Given the description of an element on the screen output the (x, y) to click on. 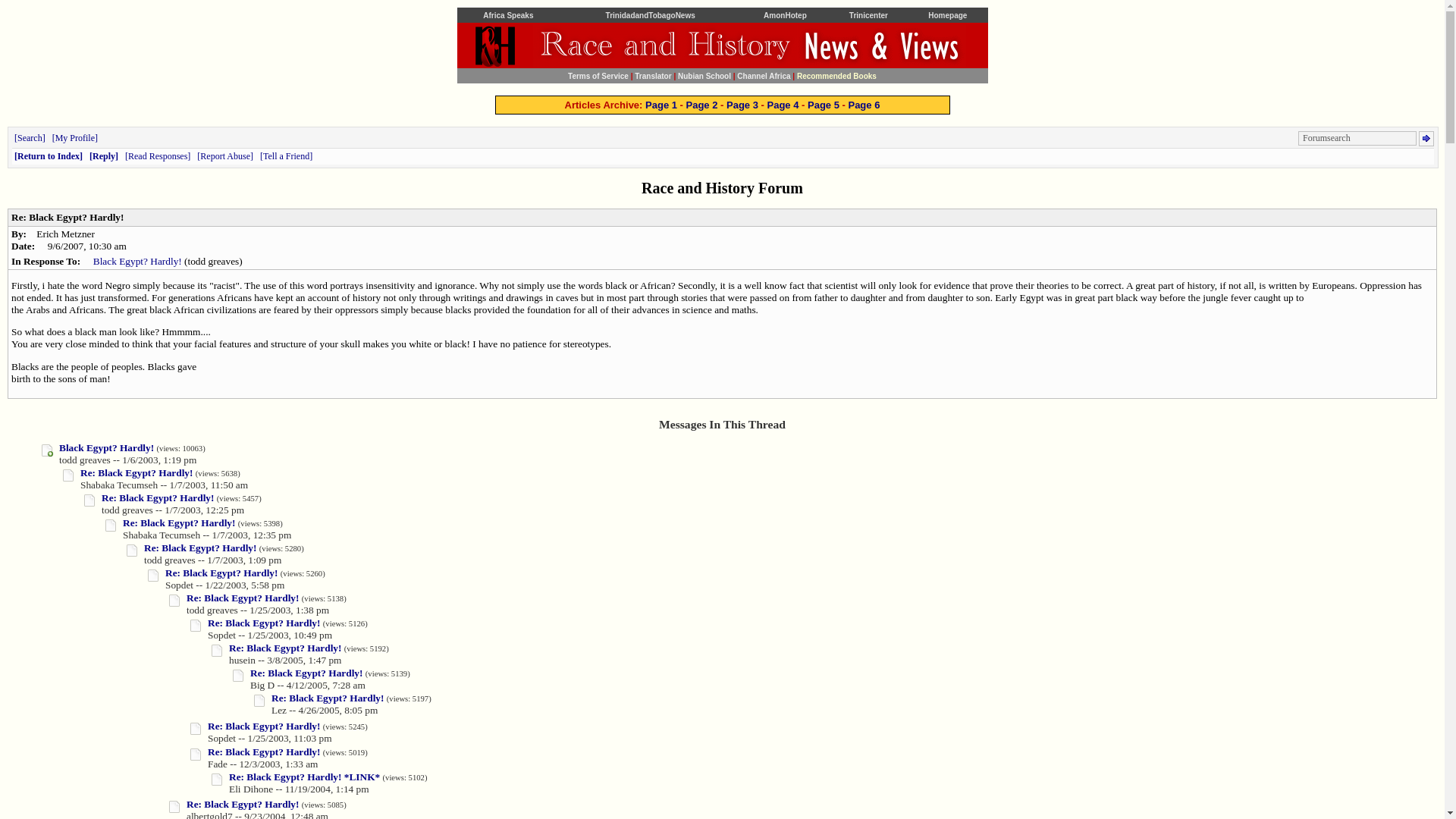
Read Responses (157, 155)
Re: Black Egypt? Hardly! (264, 751)
Recommended Books (836, 75)
Re: Black Egypt? Hardly! (284, 647)
Re: Black Egypt? Hardly! (327, 697)
Submit (1426, 137)
Return to Index (48, 155)
Homepage (947, 14)
Tell a Friend (286, 155)
